Given the description of an element on the screen output the (x, y) to click on. 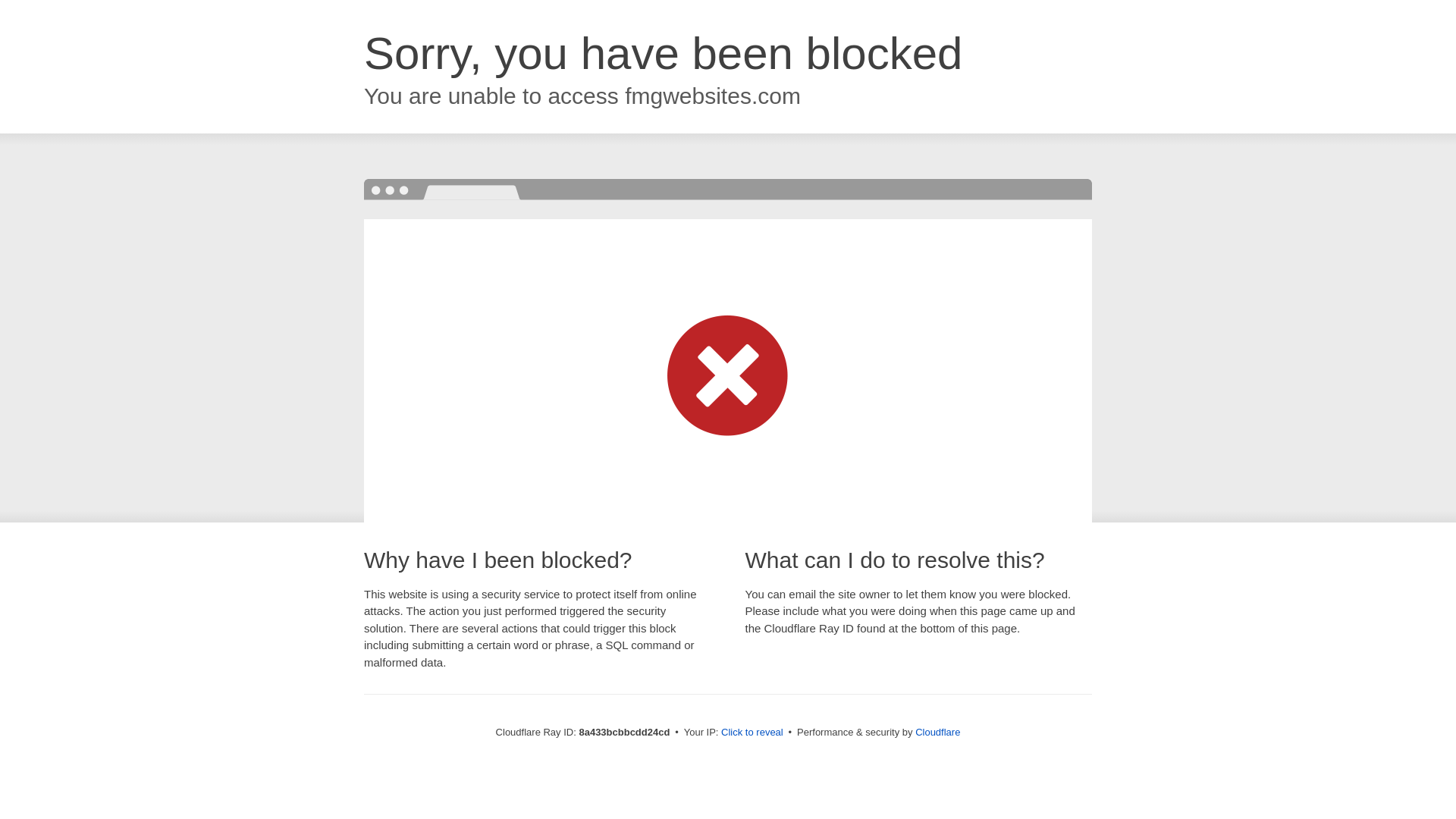
Cloudflare (937, 731)
Click to reveal (751, 732)
